Given the description of an element on the screen output the (x, y) to click on. 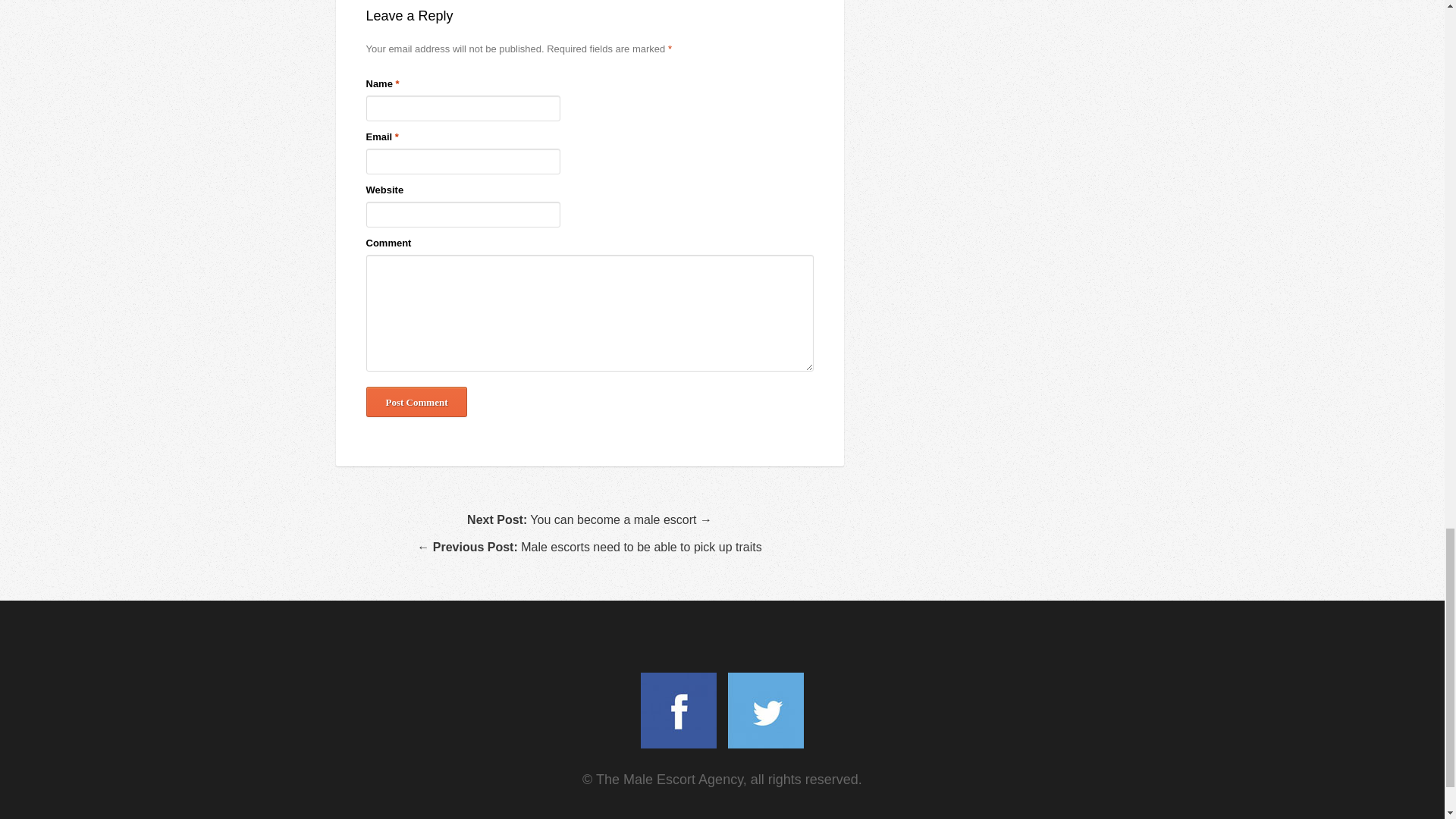
Post Comment (416, 401)
Post Comment (416, 401)
